Given the description of an element on the screen output the (x, y) to click on. 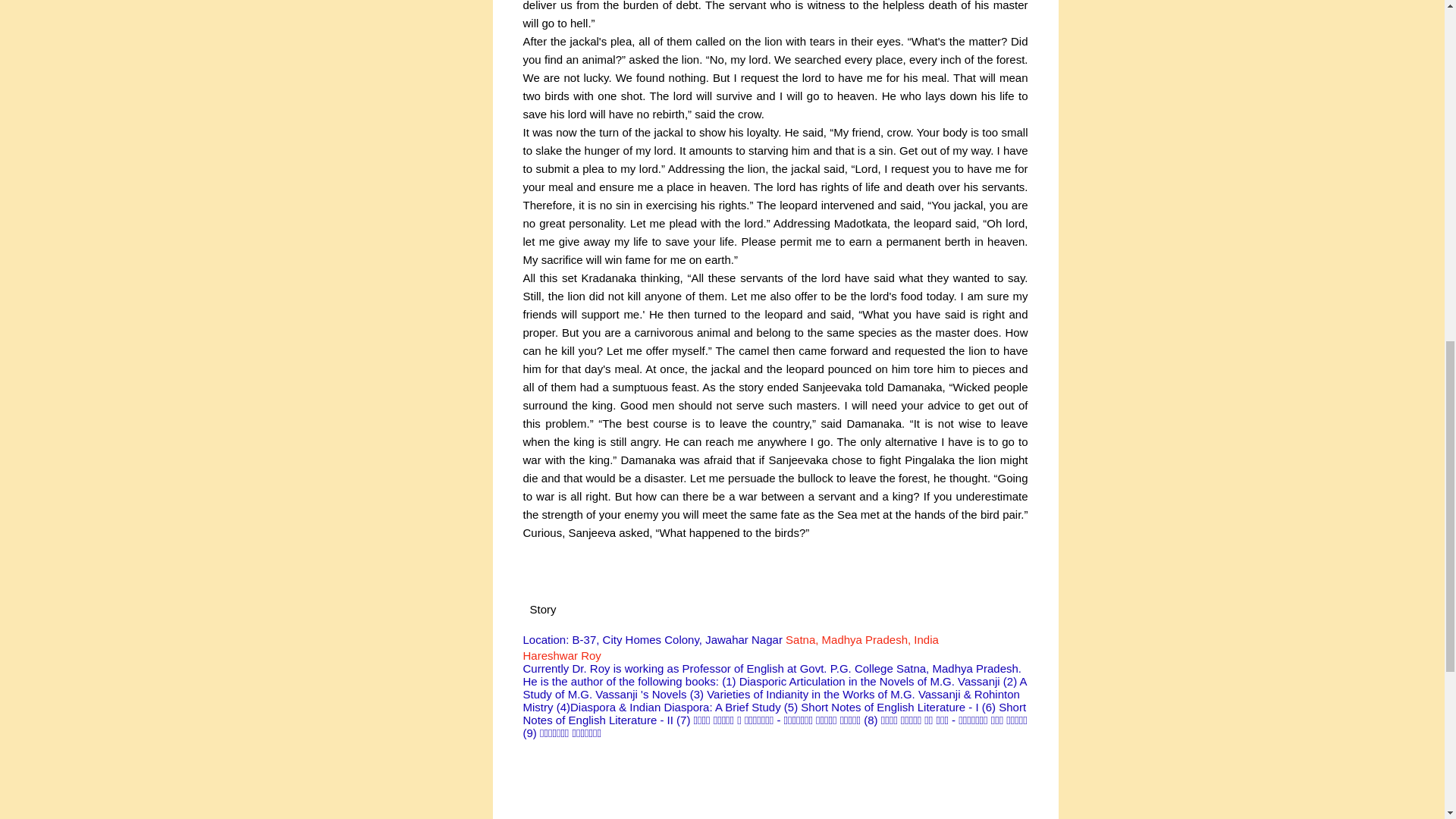
author profile (561, 655)
Email Post (589, 608)
Story (542, 609)
Hareshwar Roy (561, 655)
Satna, Madhya Pradesh, India (862, 638)
